Given the description of an element on the screen output the (x, y) to click on. 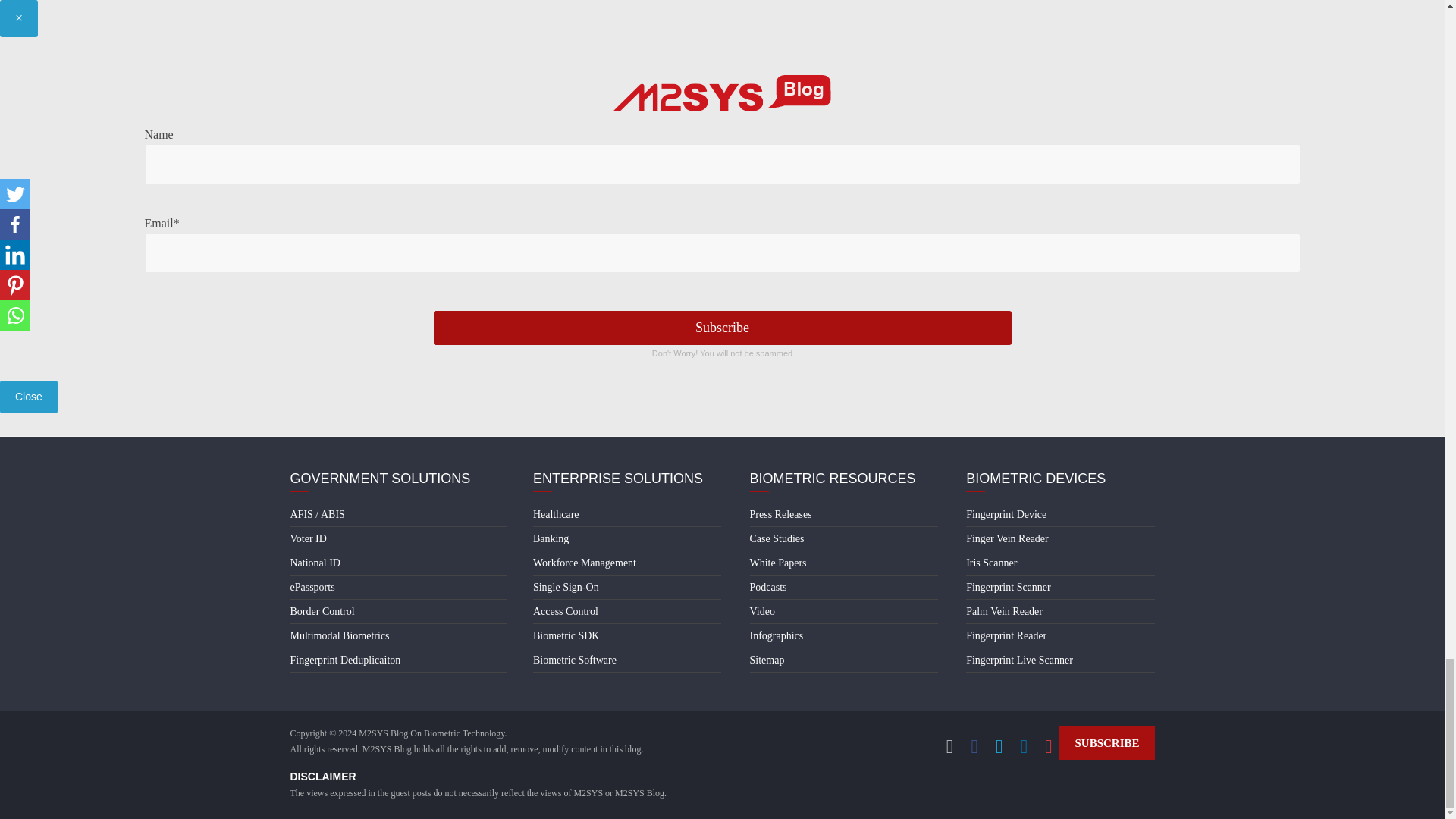
Subscribe (722, 327)
